Given the description of an element on the screen output the (x, y) to click on. 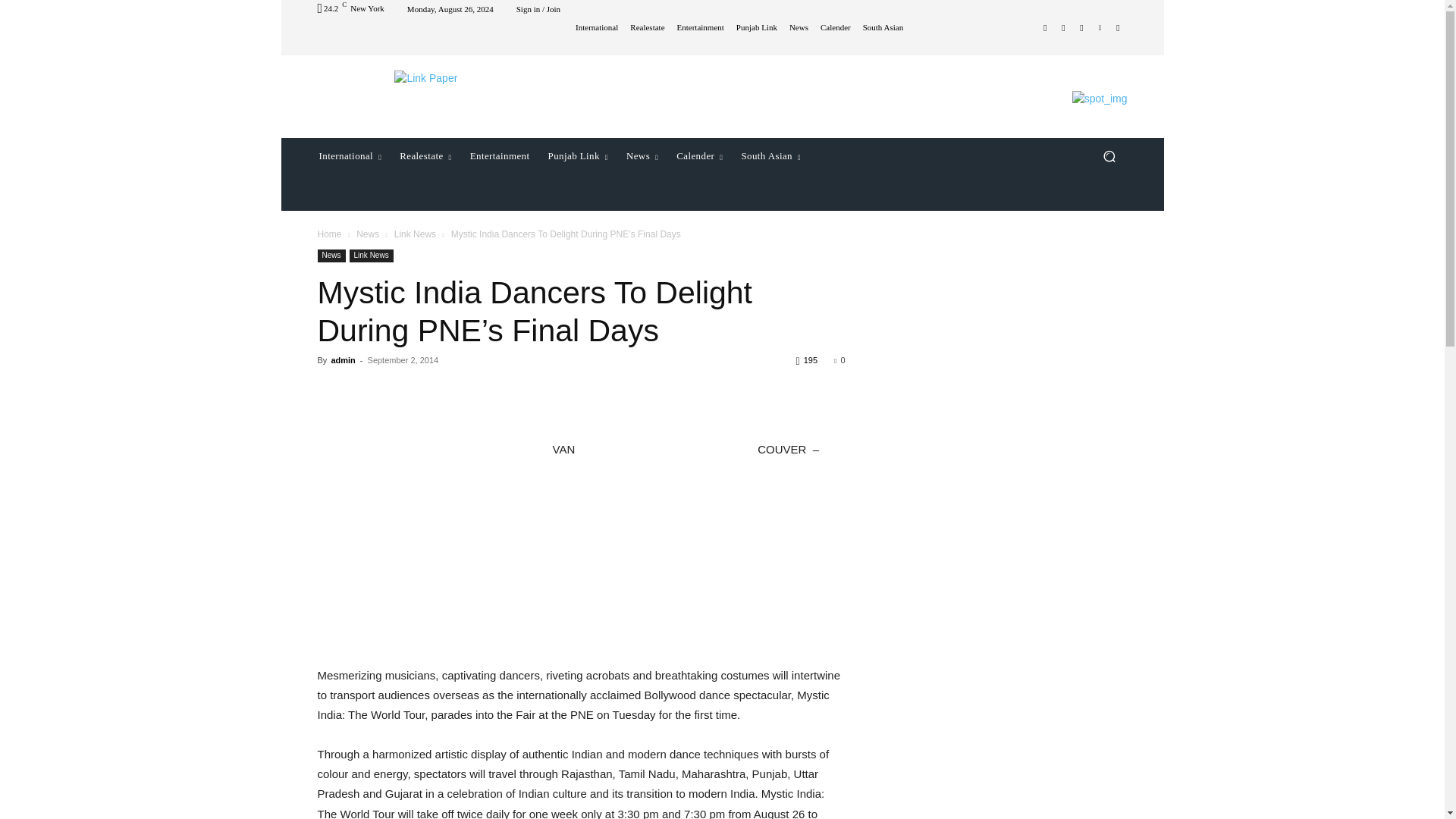
Realestate (646, 27)
International (349, 156)
South Asian (882, 27)
Facebook (1044, 27)
News (798, 27)
International (596, 27)
Vimeo (1099, 27)
Link Paper (425, 78)
Instagram (1062, 27)
Twitter (1080, 27)
